Given the description of an element on the screen output the (x, y) to click on. 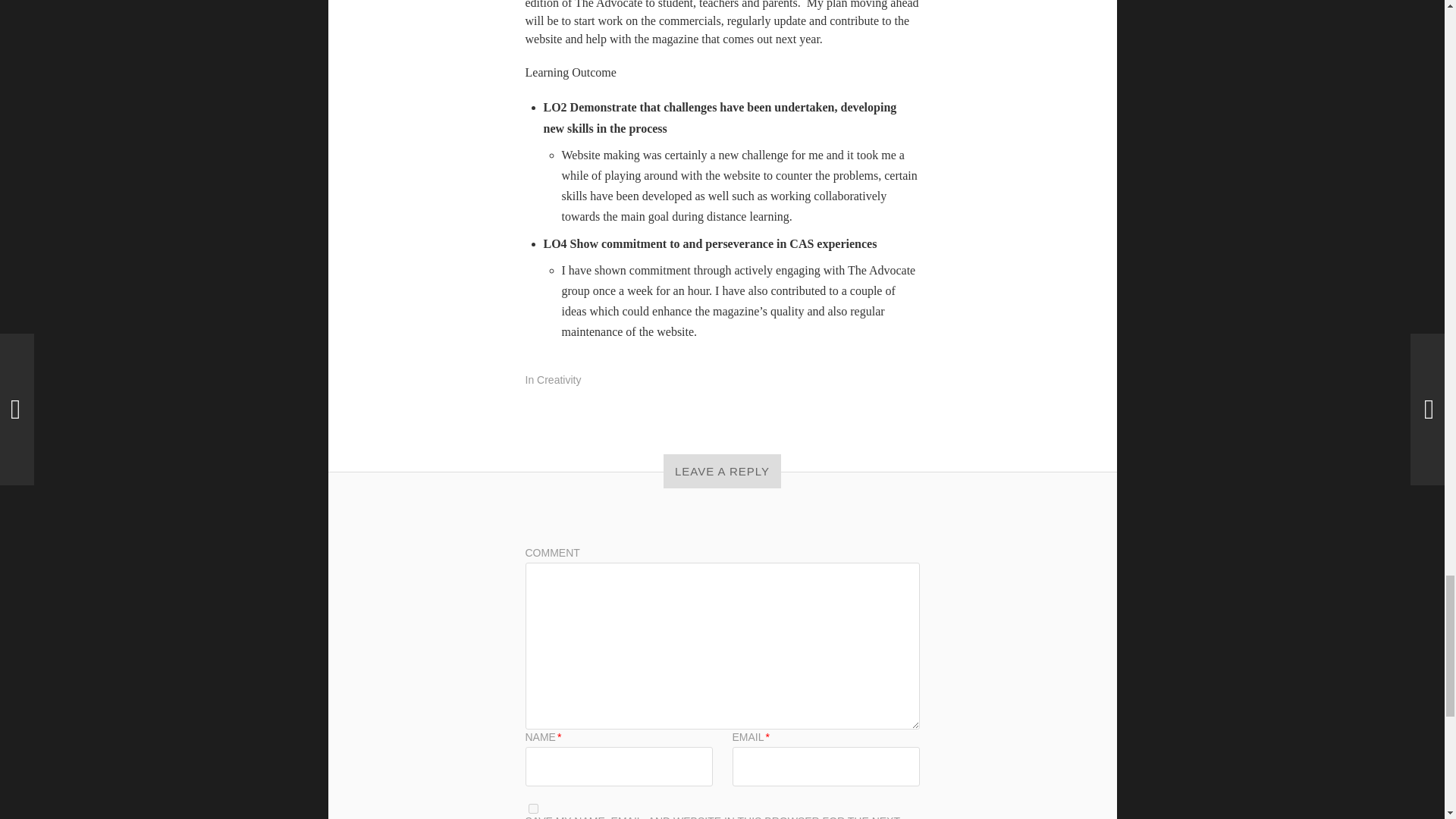
yes (532, 808)
Creativity (558, 379)
